Given the description of an element on the screen output the (x, y) to click on. 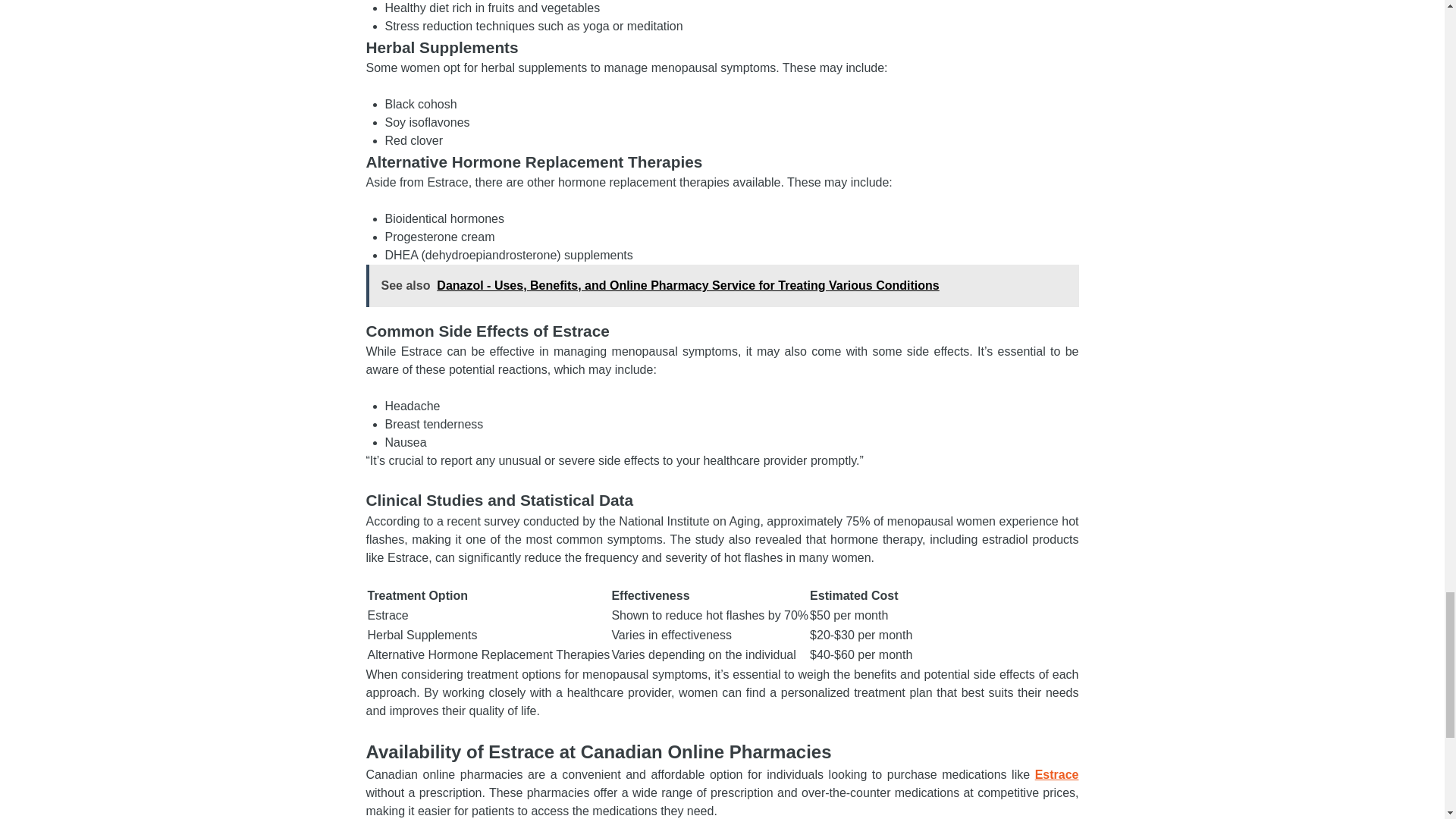
Estrace (1056, 774)
